Given the description of an element on the screen output the (x, y) to click on. 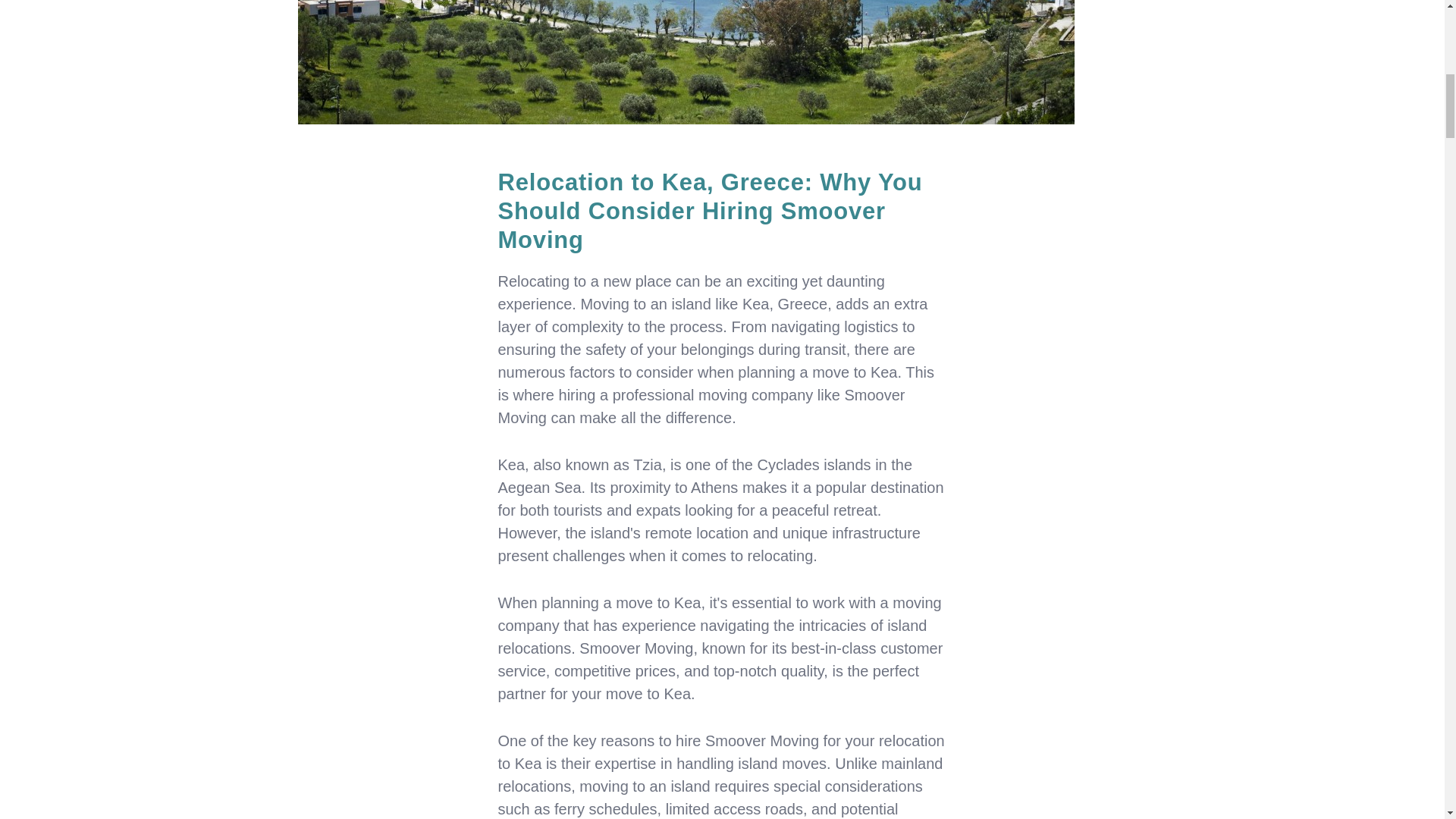
Kea view (685, 62)
